Given the description of an element on the screen output the (x, y) to click on. 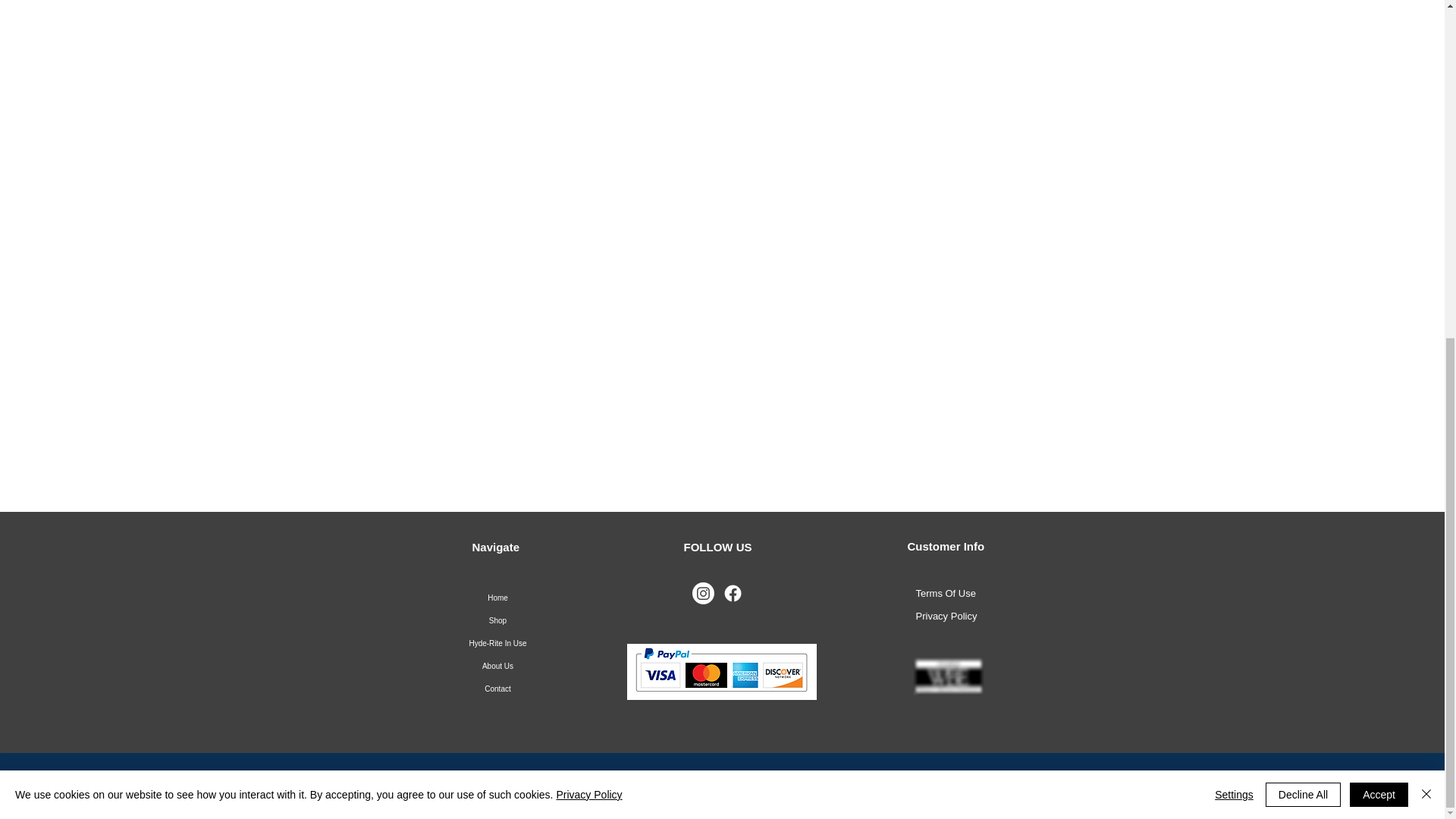
Hyde-Rite In Use (498, 643)
About Us (498, 666)
Terms Of Use (945, 593)
Contact (498, 689)
Privacy Policy (945, 615)
Shop (498, 620)
Accept (1378, 224)
Decline All (1302, 224)
Privacy Policy (588, 224)
Home (498, 598)
